Given the description of an element on the screen output the (x, y) to click on. 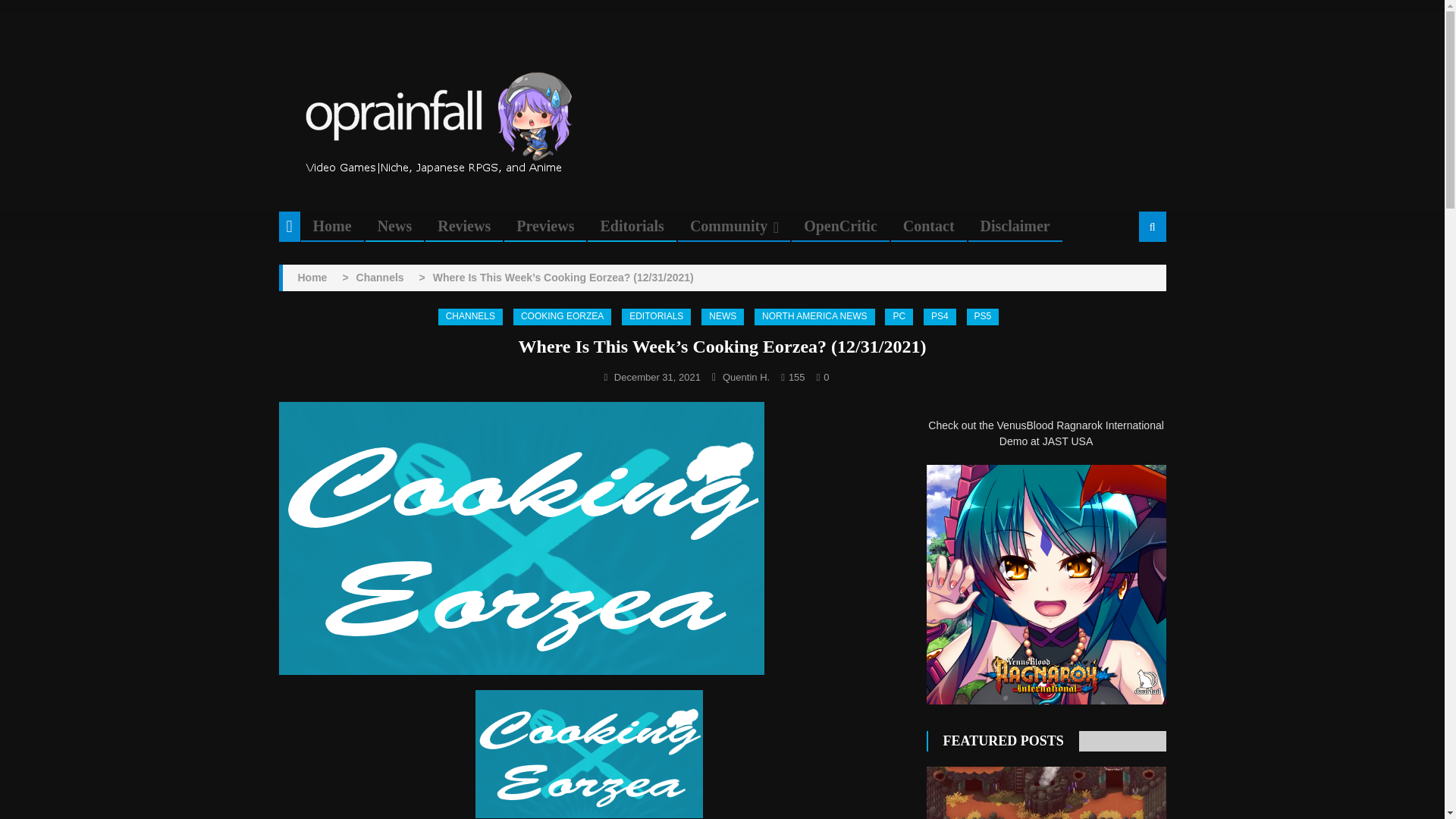
Disclaimer (1015, 225)
Previews (545, 225)
Reviews (464, 225)
PS4 (939, 316)
NORTH AMERICA NEWS (814, 316)
Contact (928, 225)
Contact (928, 225)
December 31, 2021 (657, 377)
PC (898, 316)
Community (728, 225)
Home (311, 277)
EDITORIALS (655, 316)
PS5 (982, 316)
Home (331, 225)
Editorials (631, 225)
